Given the description of an element on the screen output the (x, y) to click on. 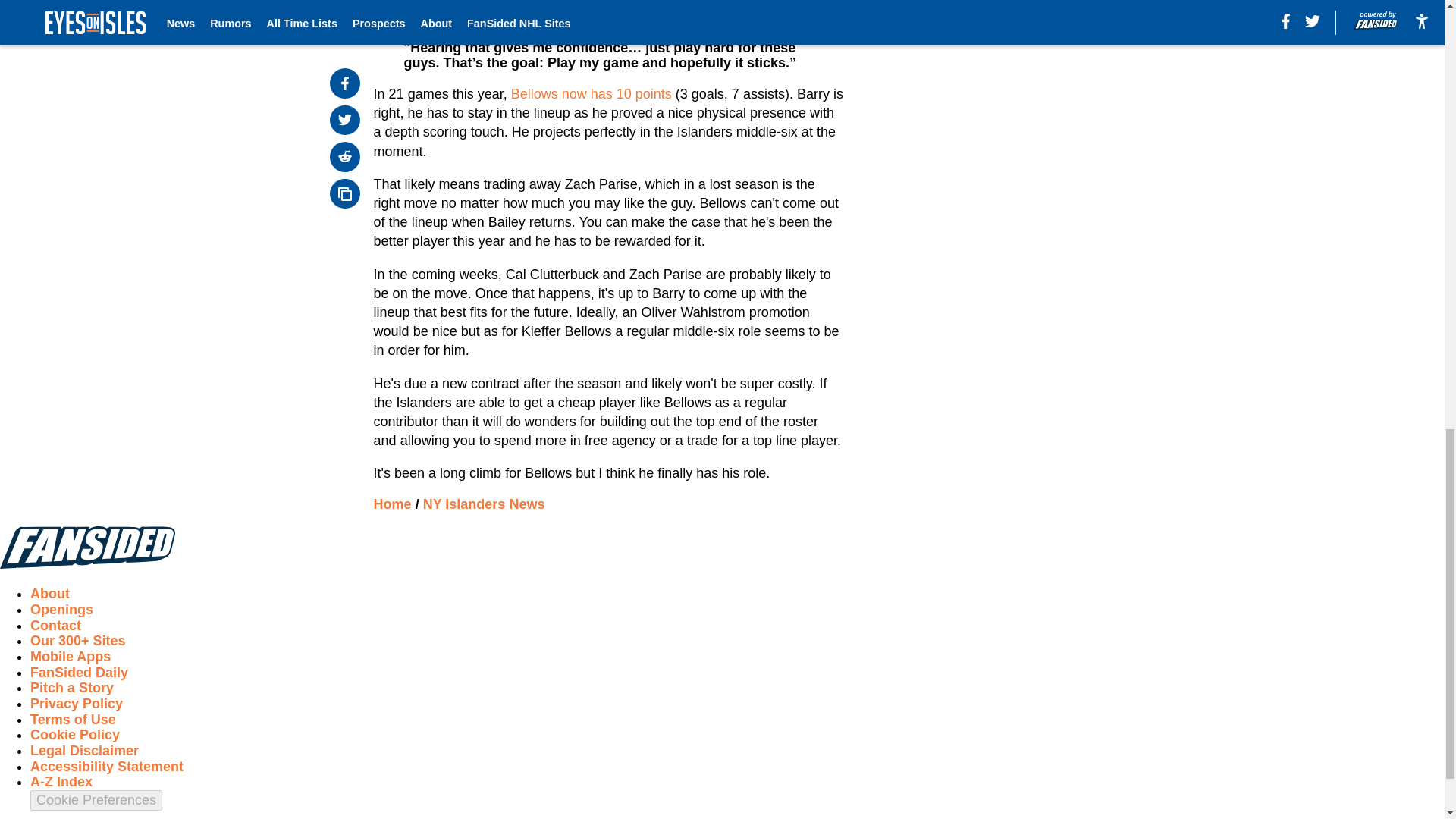
About (49, 593)
Contact (55, 625)
Bellows now has 10 points (593, 93)
Bellows who seemed to be in great spirits (530, 16)
Home (393, 503)
NY Islanders News (483, 503)
Openings (61, 609)
